Given the description of an element on the screen output the (x, y) to click on. 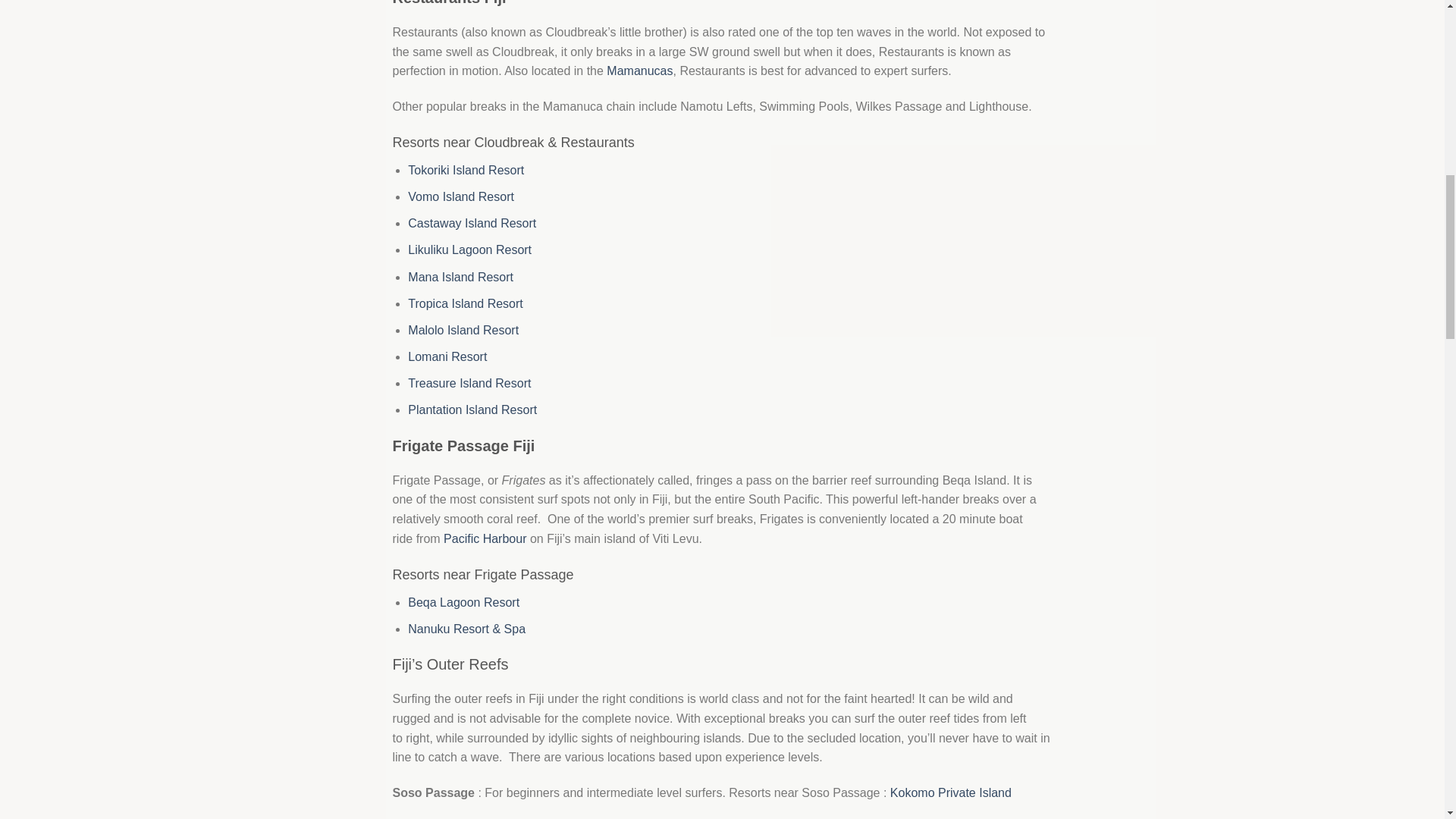
Vomo Island Resort (460, 196)
Mamanucas (639, 70)
Malolo Island Resort (462, 329)
Treasure Island Resort (469, 382)
Plantation Island Resort (472, 409)
Lomani Resort (446, 356)
Tropica Island Resort (464, 303)
Tokoriki Island Resort (465, 169)
Castaway Island Resort (471, 223)
Mana Island Resort (460, 276)
